Given the description of an element on the screen output the (x, y) to click on. 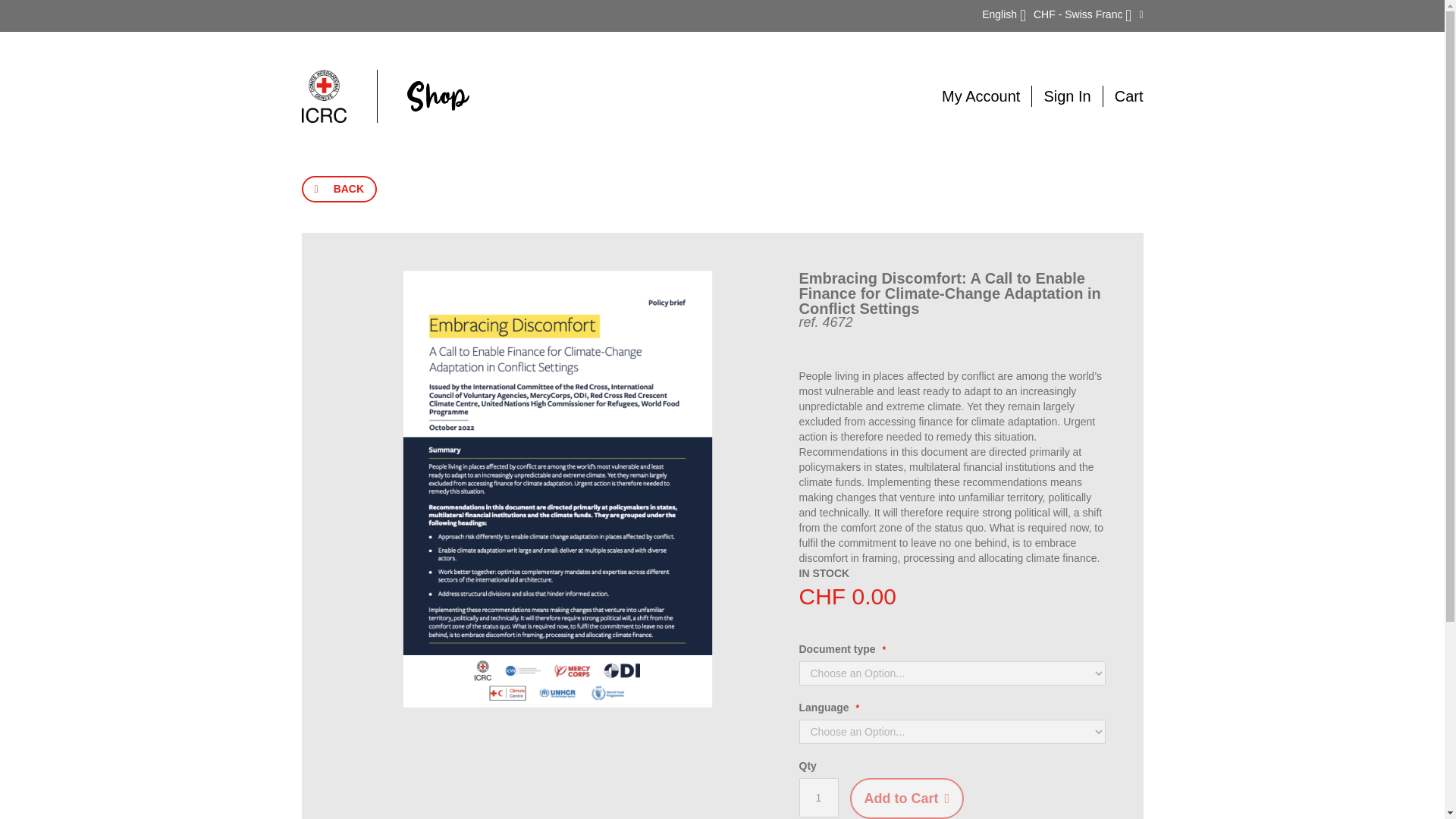
Cart (1128, 96)
Add to Cart (905, 798)
Availability (824, 573)
1 (818, 797)
Sign In (1066, 95)
BACK (339, 189)
Add to Cart (905, 798)
Go to Home page (385, 95)
My Account (981, 95)
Qty (818, 797)
